Given the description of an element on the screen output the (x, y) to click on. 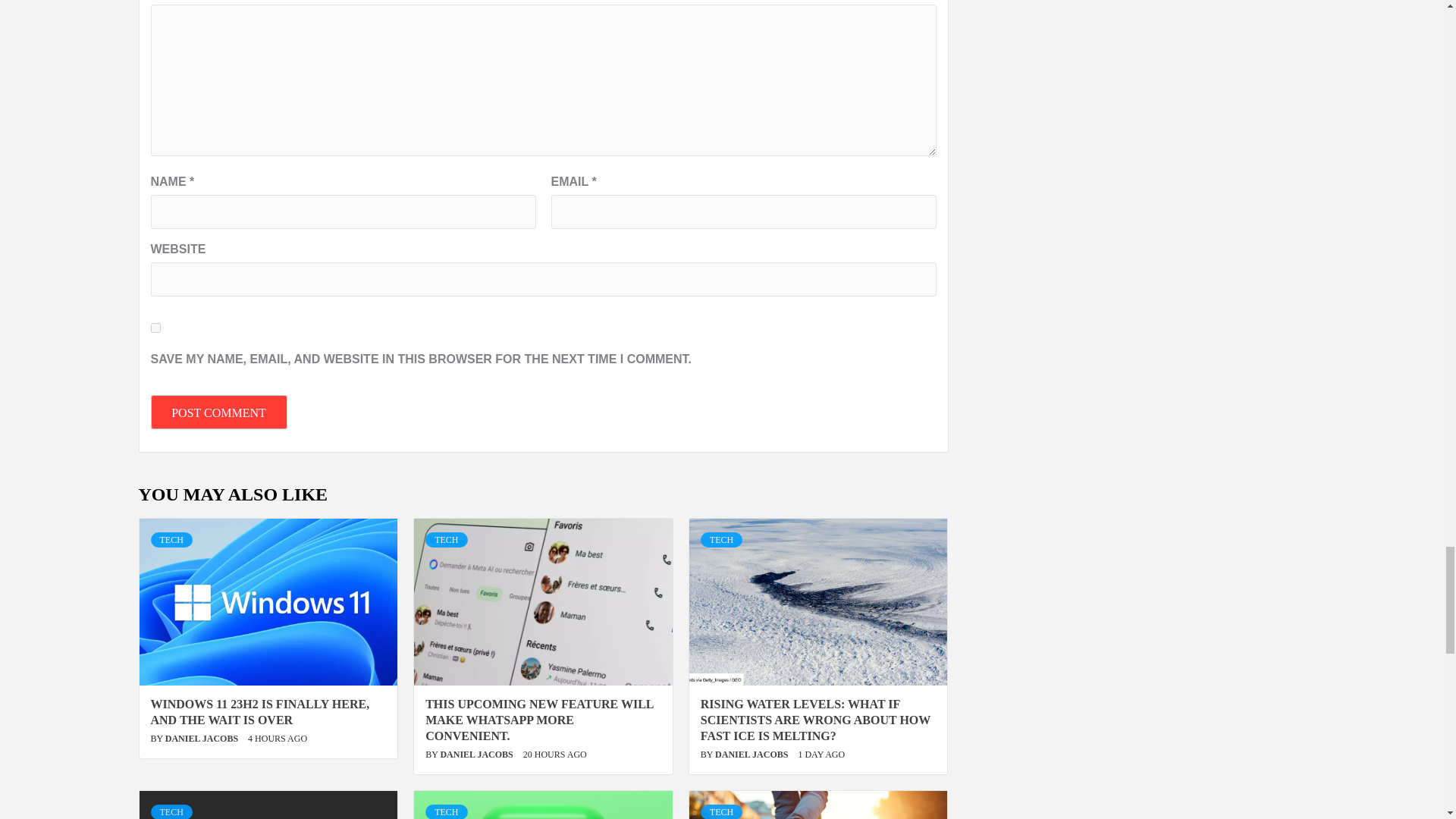
Post Comment (217, 411)
TECH (170, 539)
TECH (721, 539)
Post Comment (217, 411)
WINDOWS 11 23H2 IS FINALLY HERE, AND THE WAIT IS OVER (259, 711)
DANIEL JACOBS (752, 754)
DANIEL JACOBS (202, 738)
DANIEL JACOBS (477, 754)
TECH (446, 539)
